Given the description of an element on the screen output the (x, y) to click on. 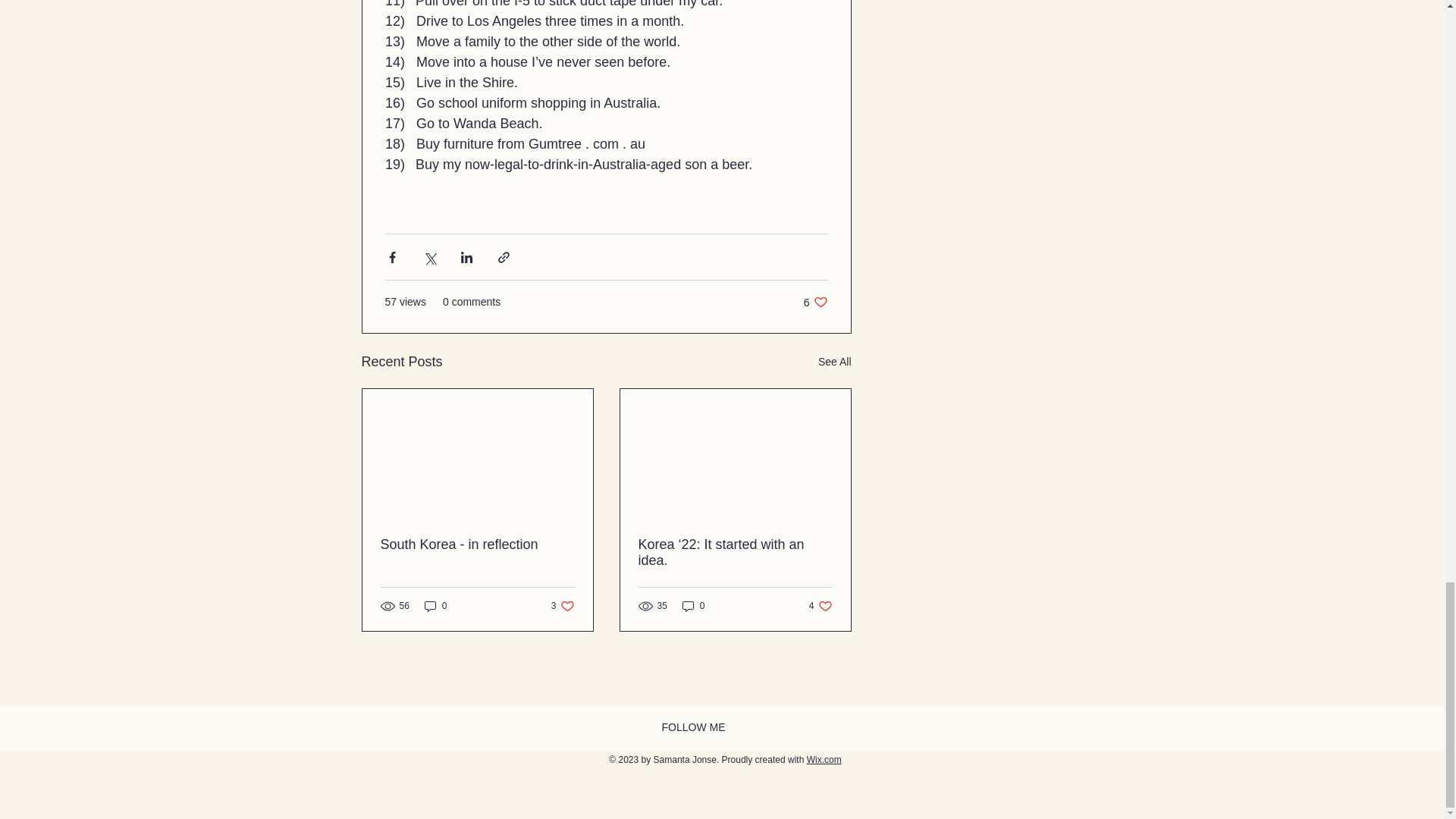
0 (815, 301)
Wix.com (693, 605)
See All (823, 759)
0 (563, 605)
South Korea - in reflection (820, 605)
